Given the description of an element on the screen output the (x, y) to click on. 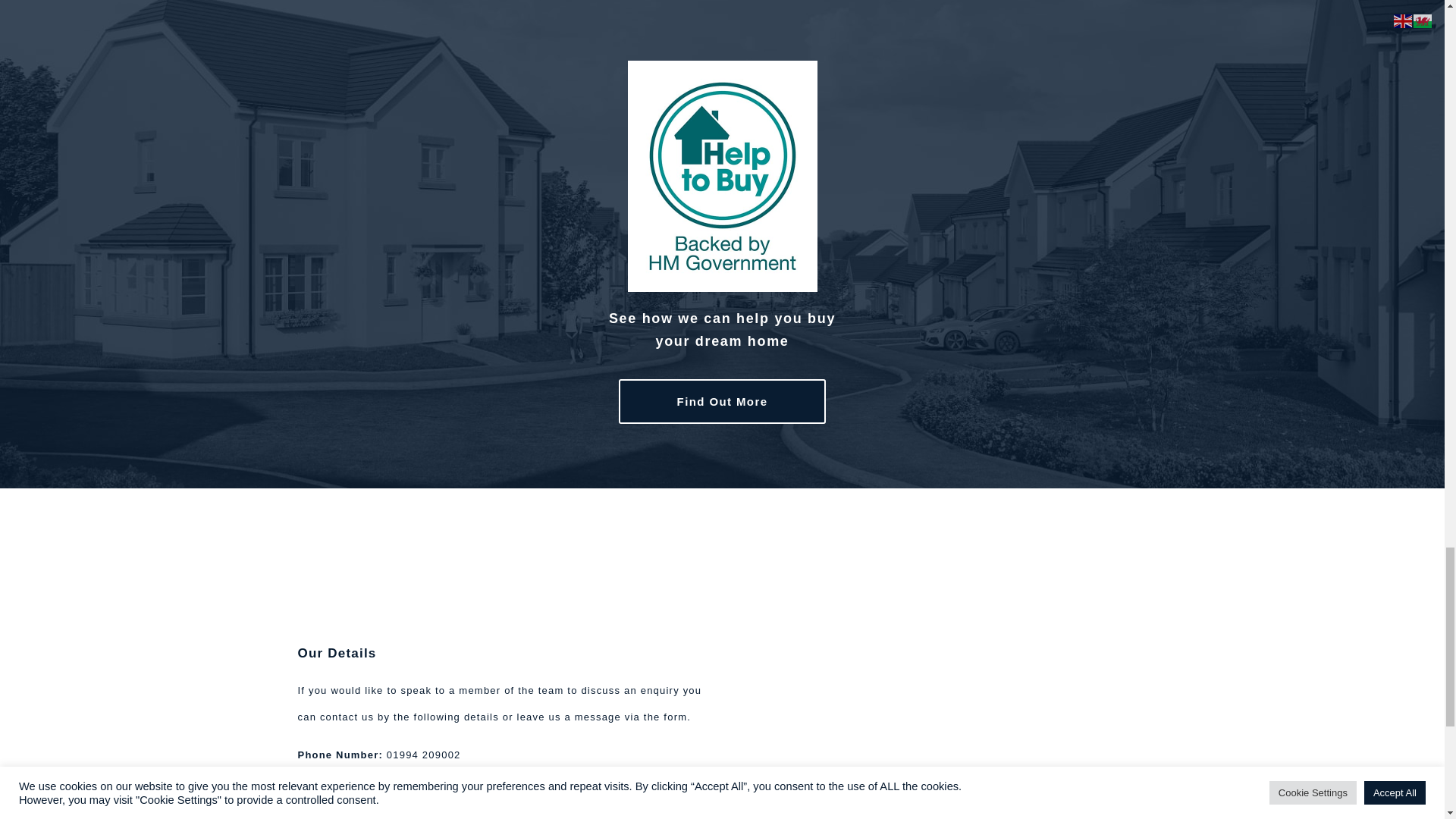
Find Out More (722, 401)
01994 209002 (424, 754)
